Given the description of an element on the screen output the (x, y) to click on. 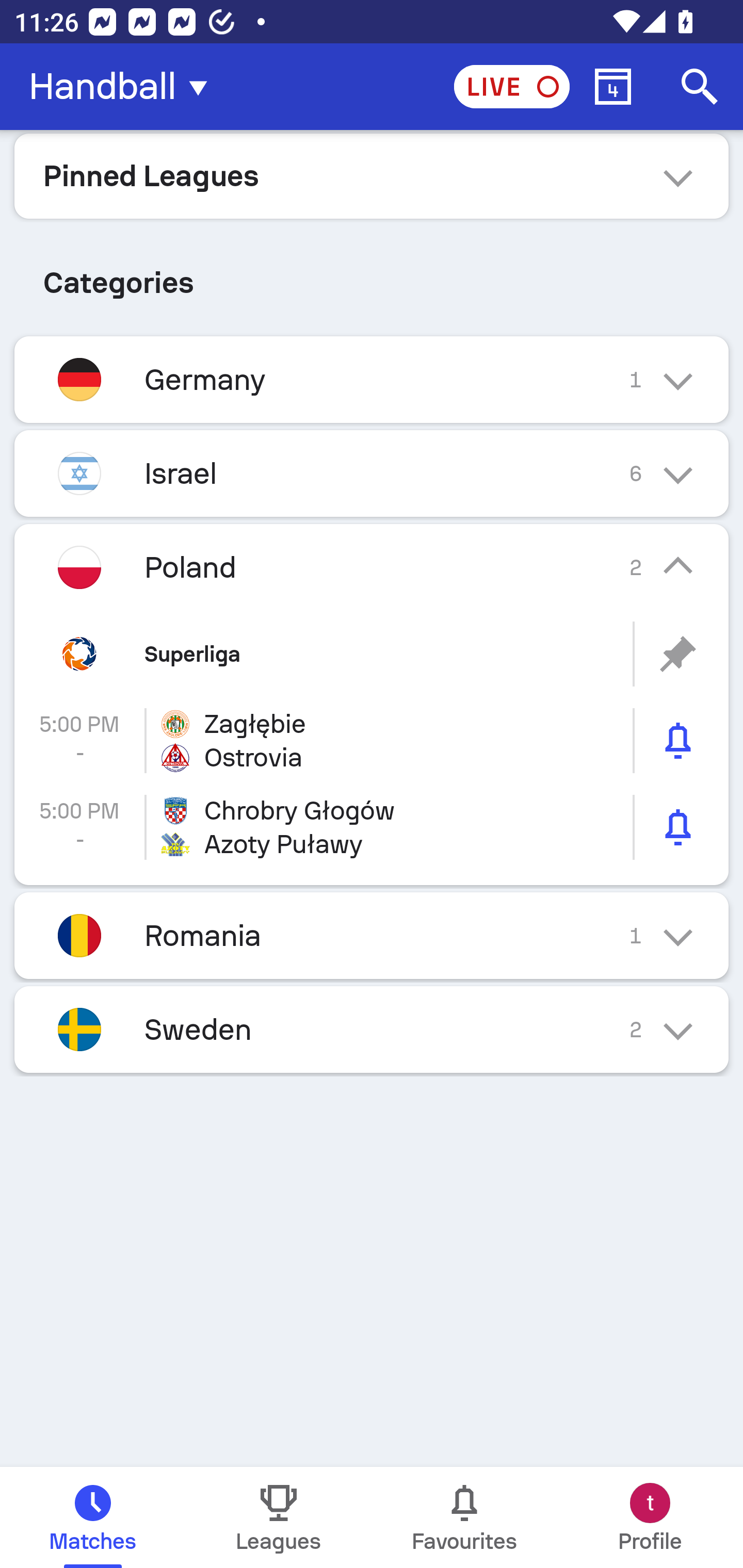
Handball (124, 86)
Calendar (612, 86)
Search (699, 86)
Pinned Leagues (371, 175)
Categories (371, 275)
Germany 1 (371, 379)
Israel 6 (371, 473)
Poland 2 (371, 566)
Superliga (371, 653)
5:00 PM - Zagłębie Ostrovia (371, 740)
5:00 PM - Chrobry Głogów Azoty Puławy (371, 827)
Romania 1 (371, 935)
Sweden 2 (371, 1029)
Leagues (278, 1517)
Favourites (464, 1517)
Profile (650, 1517)
